Given the description of an element on the screen output the (x, y) to click on. 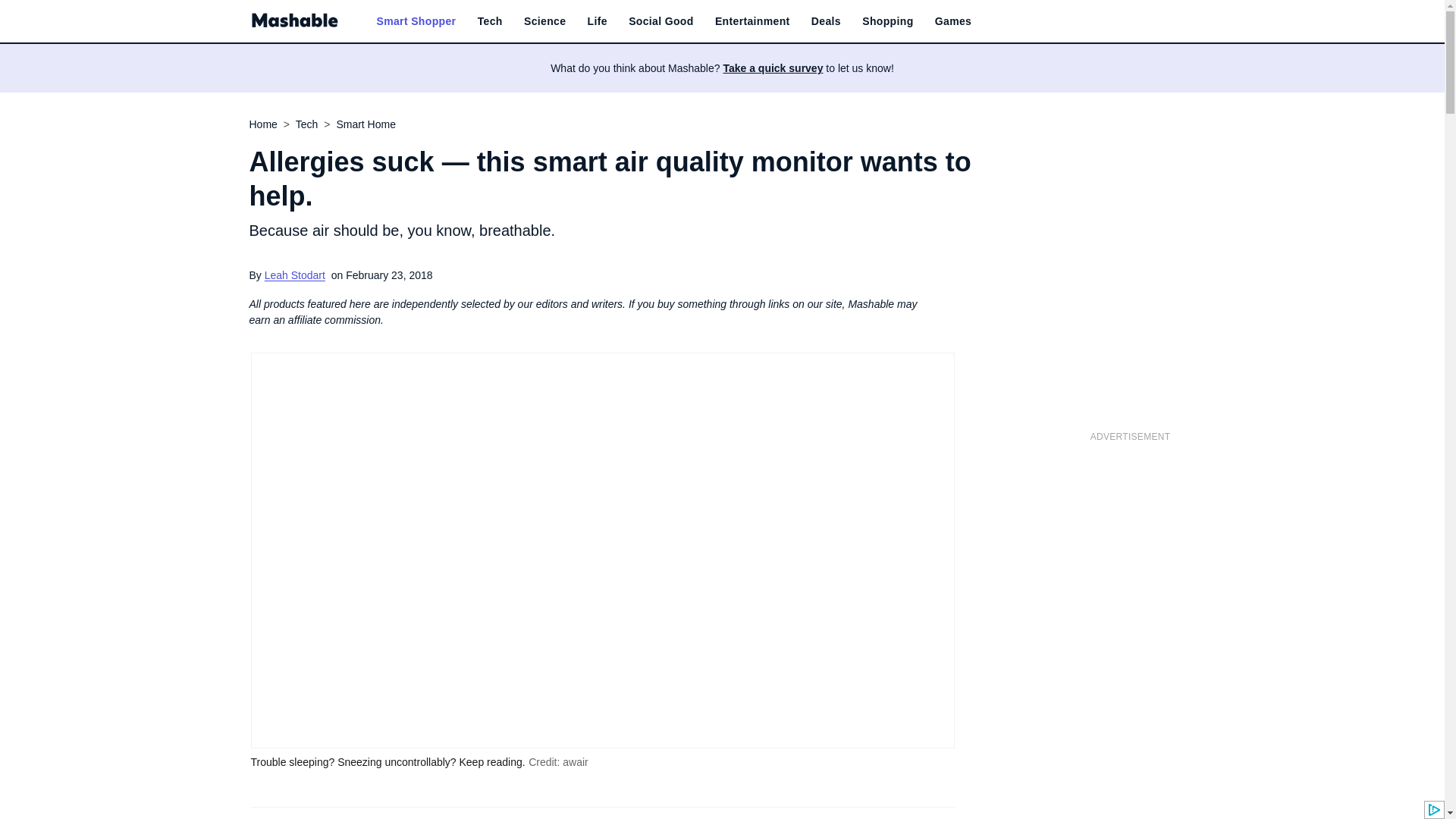
Smart Shopper (415, 21)
Science (545, 21)
Games (952, 21)
Tech (489, 21)
Deals (825, 21)
Shopping (886, 21)
Entertainment (752, 21)
Social Good (661, 21)
Life (597, 21)
